Given the description of an element on the screen output the (x, y) to click on. 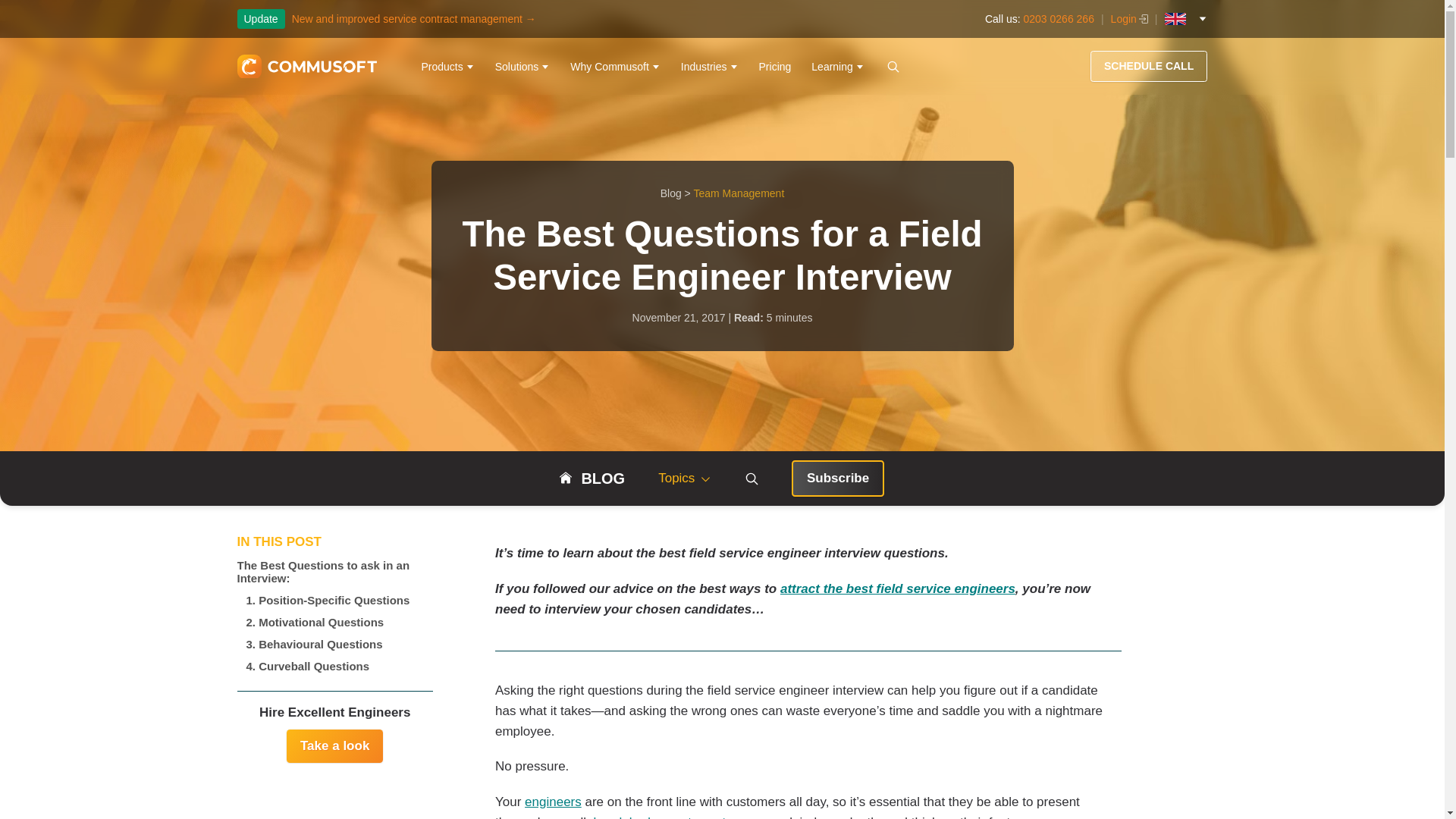
Commusoft (305, 66)
The Best Questions to ask in an Interview: (333, 571)
2. Motivational Questions (333, 621)
3. Behavioural Questions (333, 644)
Products (446, 66)
1. Position-Specific Questions (333, 599)
4. Curveball Questions (333, 666)
